Given the description of an element on the screen output the (x, y) to click on. 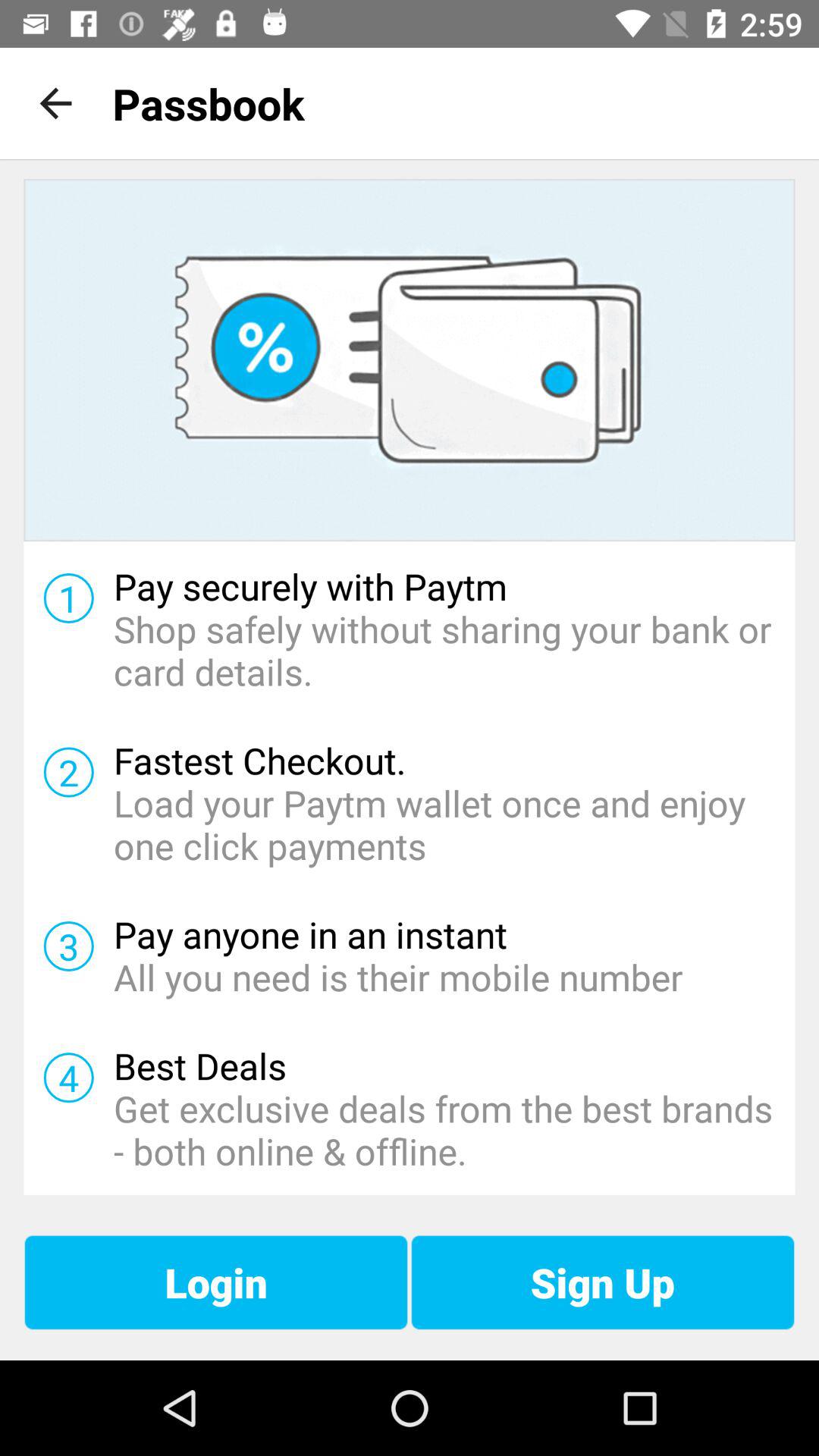
open sign up icon (602, 1282)
